Given the description of an element on the screen output the (x, y) to click on. 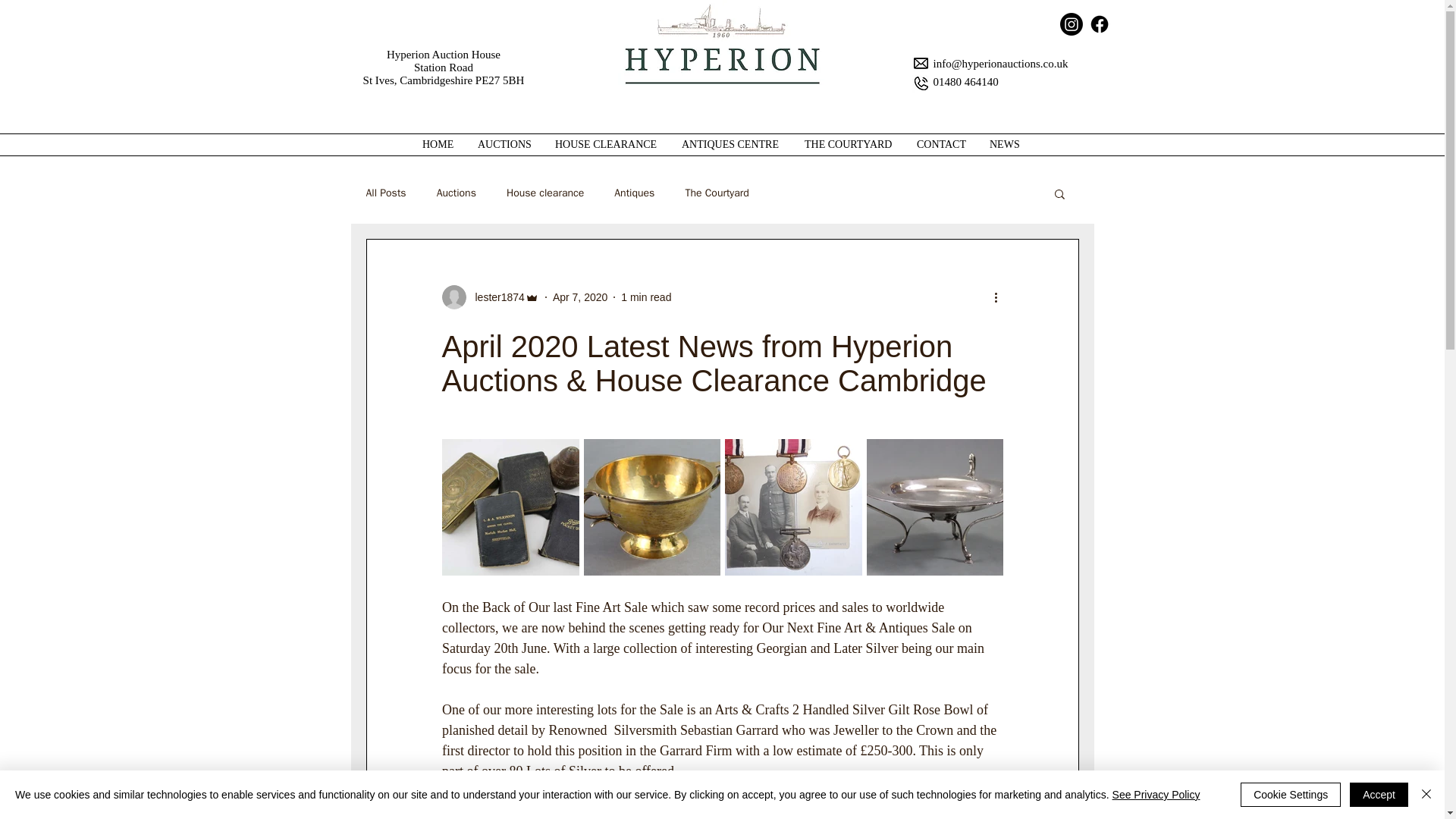
Hyperion Auction House (443, 54)
House clearance (544, 192)
phone-call.png (919, 83)
1 min read (646, 297)
Apr 7, 2020 (580, 297)
Auctions (456, 192)
lester1874 (494, 297)
THE COURTYARD (849, 144)
Antiques (633, 192)
HOME (437, 144)
